Given the description of an element on the screen output the (x, y) to click on. 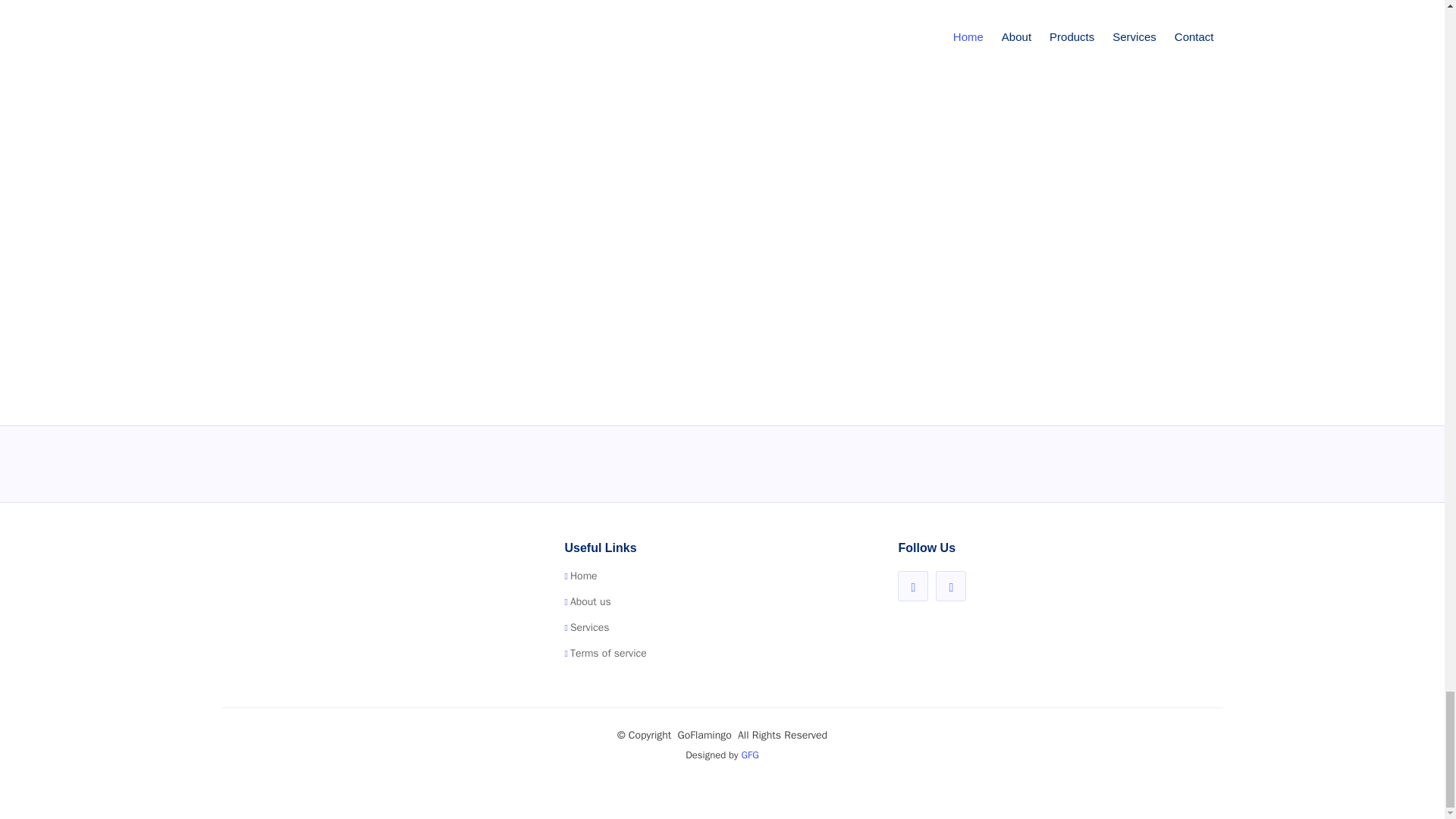
Services (590, 627)
Home (583, 575)
About us (590, 602)
GFG (749, 754)
Terms of service (608, 653)
